Given the description of an element on the screen output the (x, y) to click on. 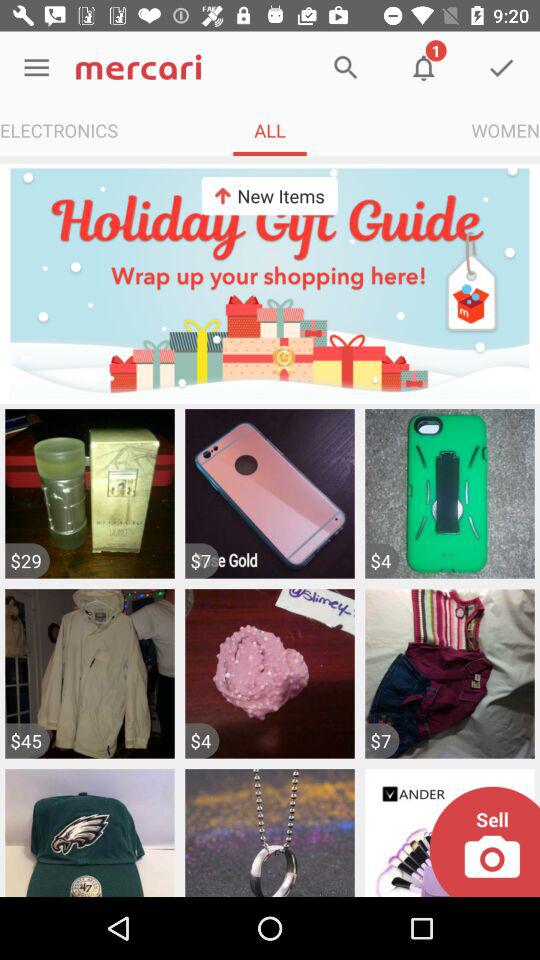
swipe to the new items item (269, 196)
